Given the description of an element on the screen output the (x, y) to click on. 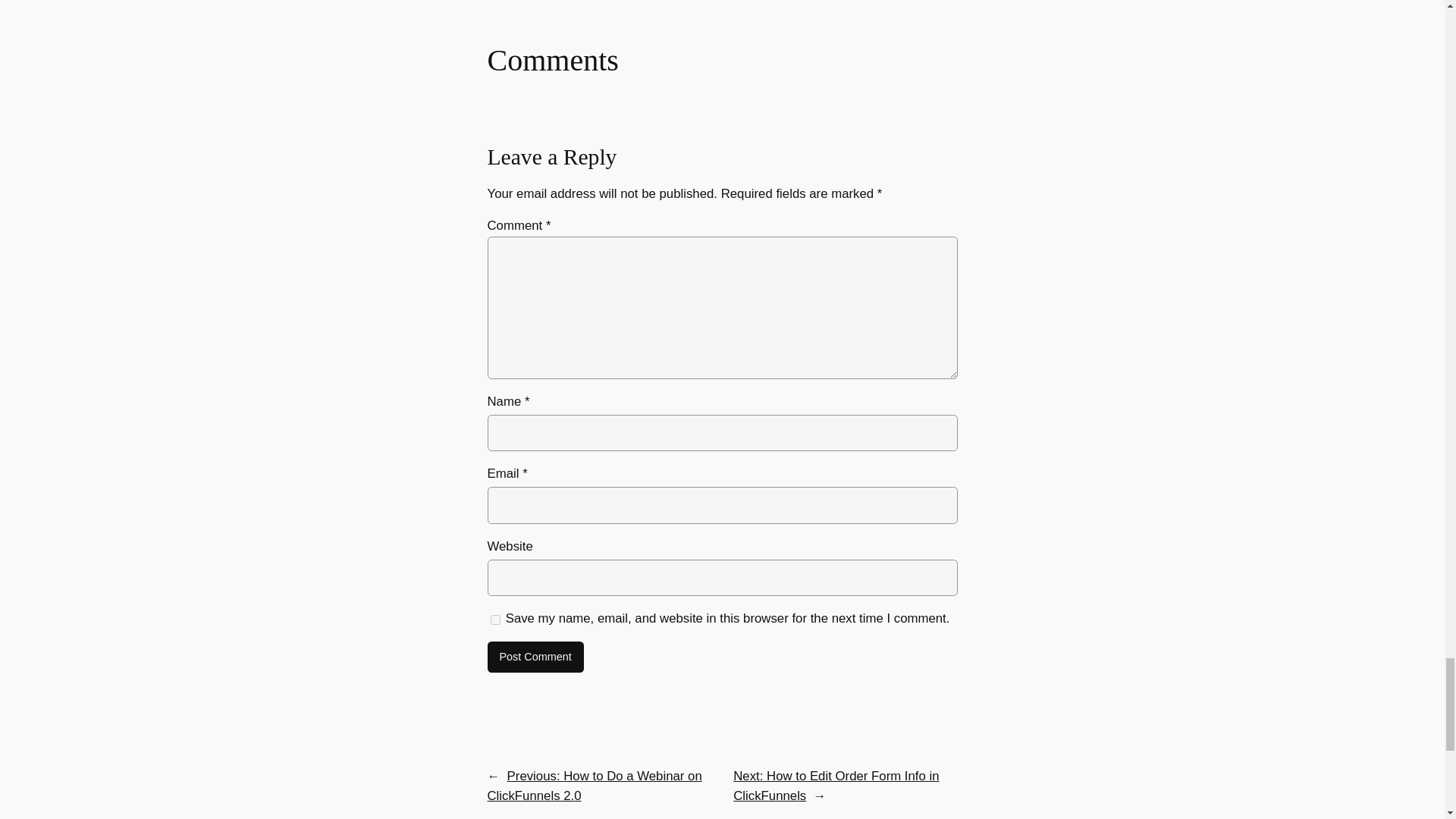
Post Comment (534, 657)
Next: How to Edit Order Form Info in ClickFunnels (836, 786)
Post Comment (534, 657)
Previous: How to Do a Webinar on ClickFunnels 2.0 (593, 786)
